Given the description of an element on the screen output the (x, y) to click on. 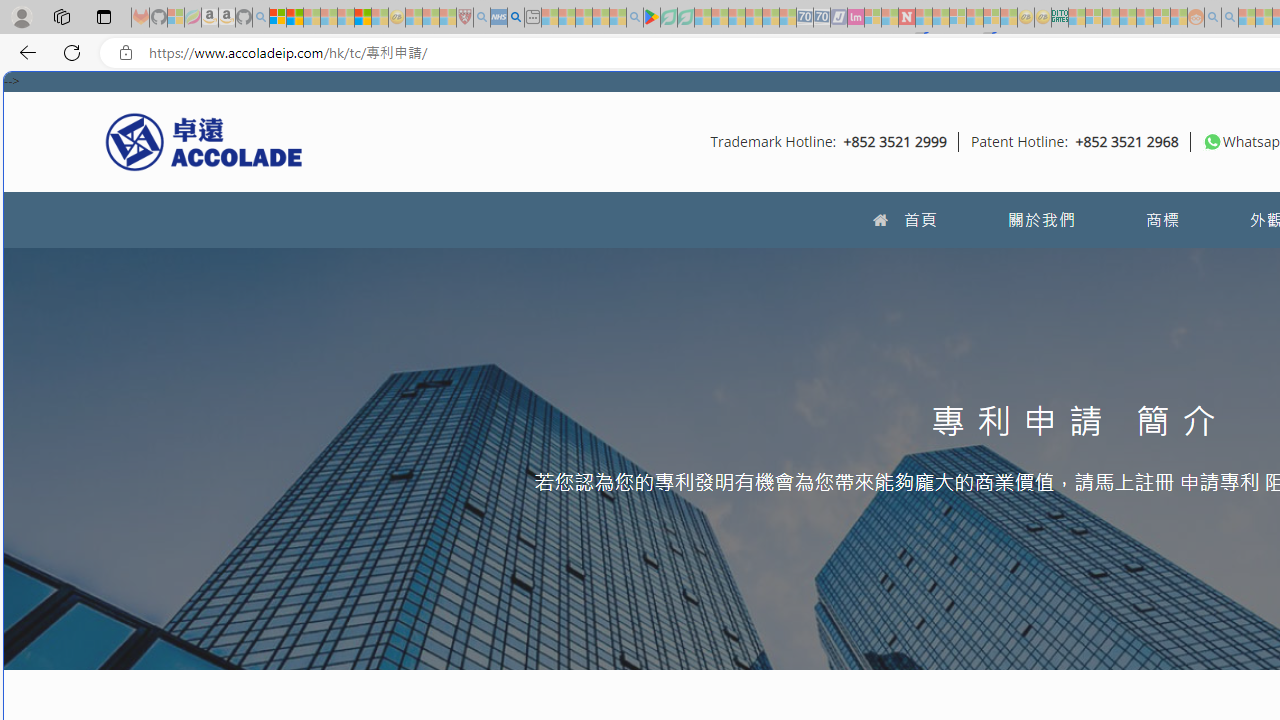
google - Search - Sleeping (634, 17)
Accolade IP HK Logo (203, 141)
Latest Politics News & Archive | Newsweek.com - Sleeping (906, 17)
